Given the description of an element on the screen output the (x, y) to click on. 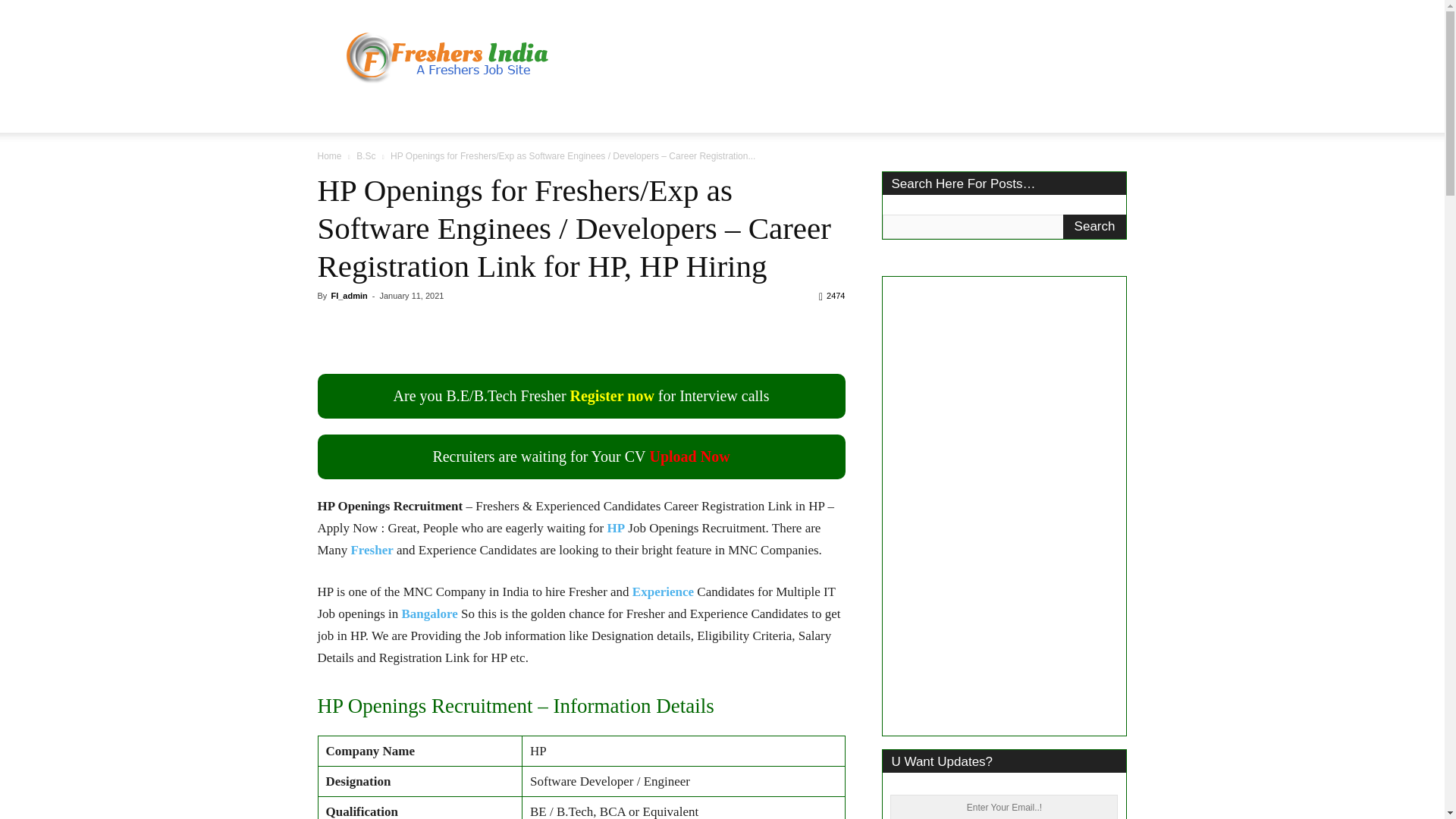
MATERIALS FOR FRESHERS (776, 114)
HOME (344, 114)
Advertisement (850, 55)
View all posts in B.Sc (365, 155)
WALKINS (561, 114)
GOVT JOBS (481, 114)
BANK JOBS (643, 114)
IT JOBS (405, 114)
Search (1094, 226)
